Given the description of an element on the screen output the (x, y) to click on. 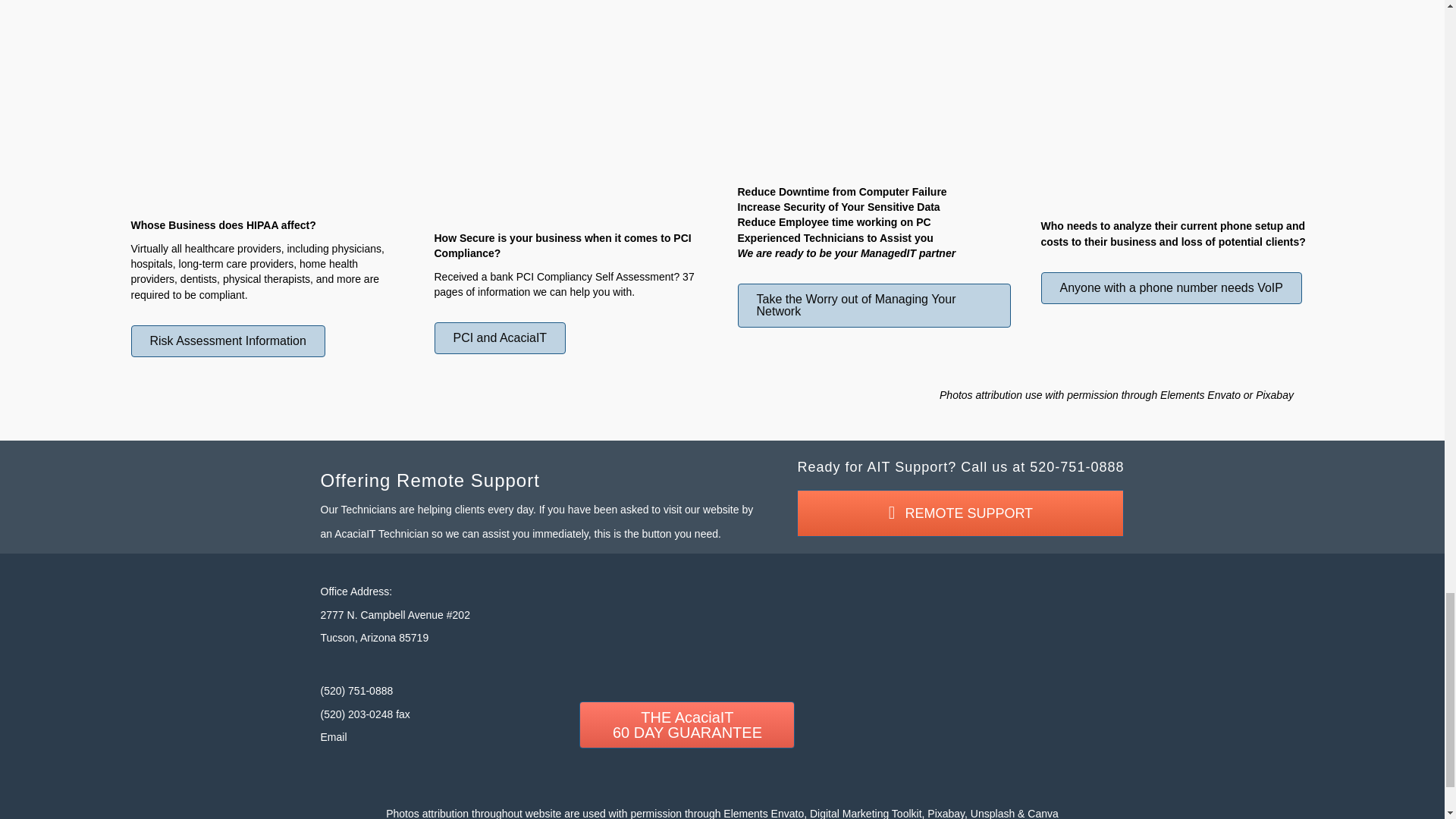
02I69301 (267, 118)
Headset headphones and telephone in call center (1177, 119)
HIPAA Certified (687, 613)
